Given the description of an element on the screen output the (x, y) to click on. 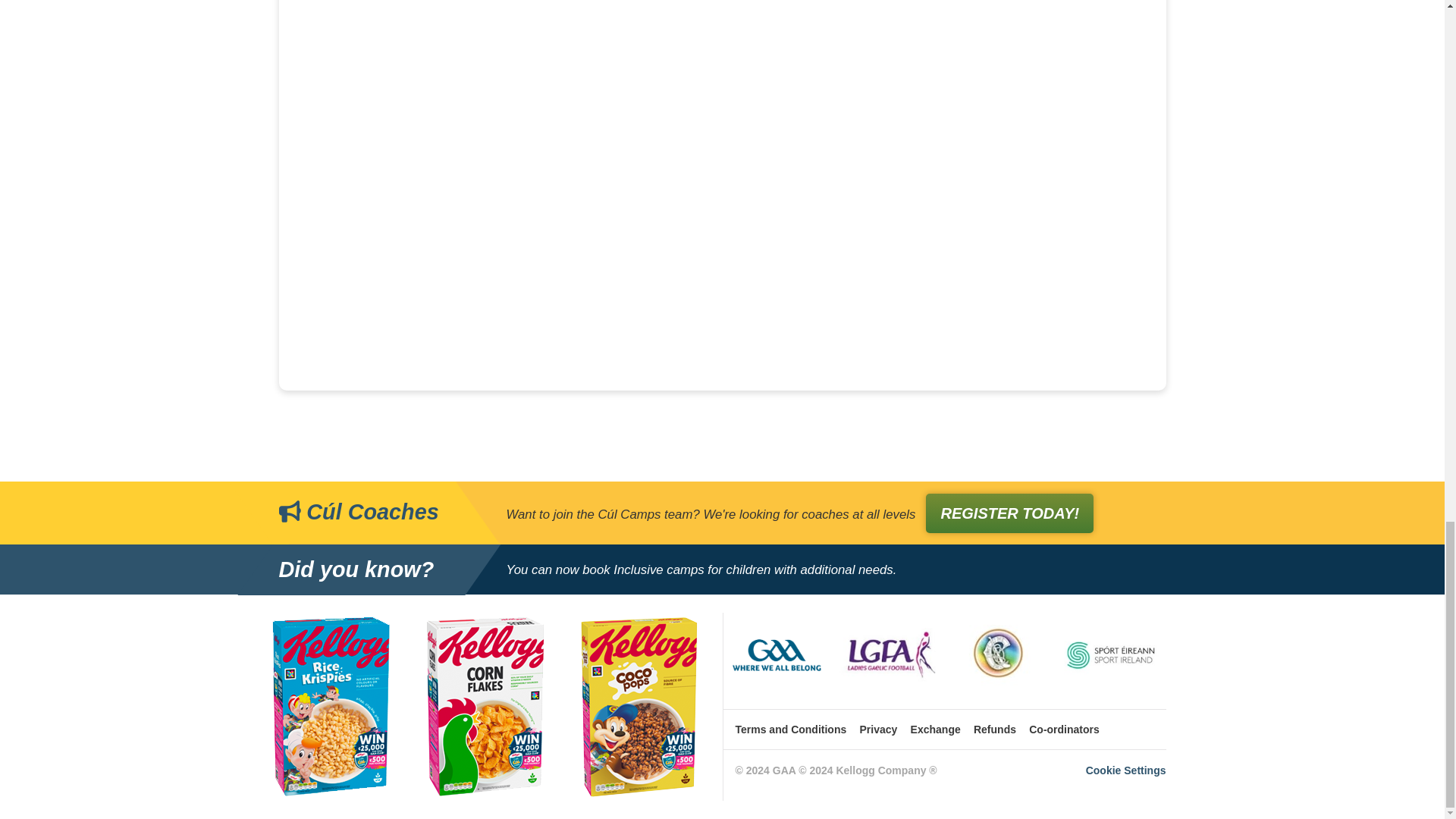
Terms and Conditions (791, 730)
Kit Exchange Policy (935, 730)
Terms and conditions for the use of this website (791, 730)
Exchange (935, 730)
Refund Policy (995, 730)
Privacy, Cookies and GDPR Policies (879, 730)
REGISTER TODAY! (1009, 513)
Cookie Settings (1126, 770)
Refunds (995, 730)
Co-ordinators (1064, 730)
